Given the description of an element on the screen output the (x, y) to click on. 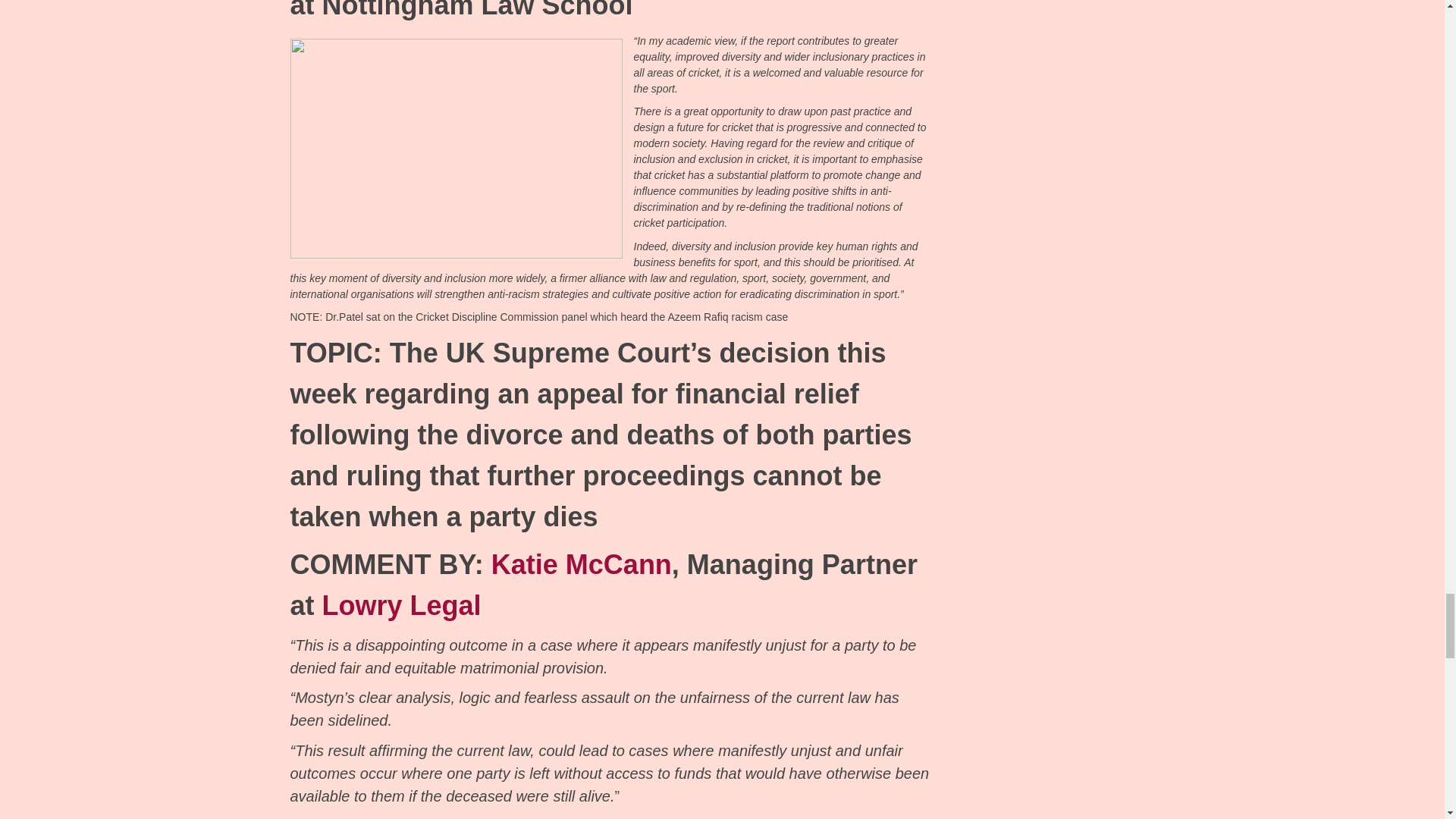
Lowry Legal (401, 604)
Katie McCann (581, 563)
